Given the description of an element on the screen output the (x, y) to click on. 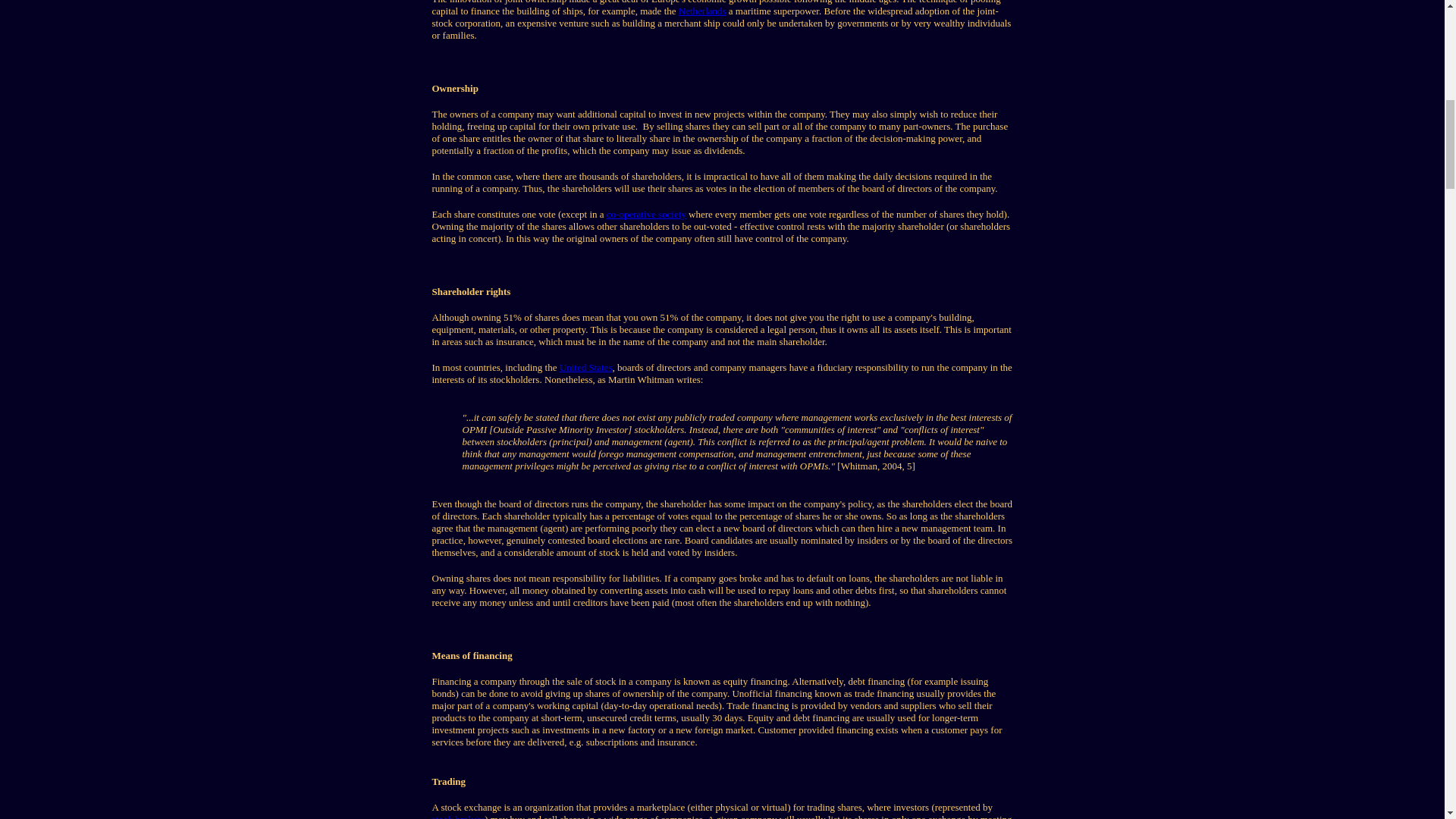
United States (585, 367)
stock brokers (458, 816)
Netherlands (702, 10)
United States (585, 367)
Stock broker (458, 816)
Cooperative (646, 214)
co-operative society (646, 214)
Netherlands (702, 10)
